Given the description of an element on the screen output the (x, y) to click on. 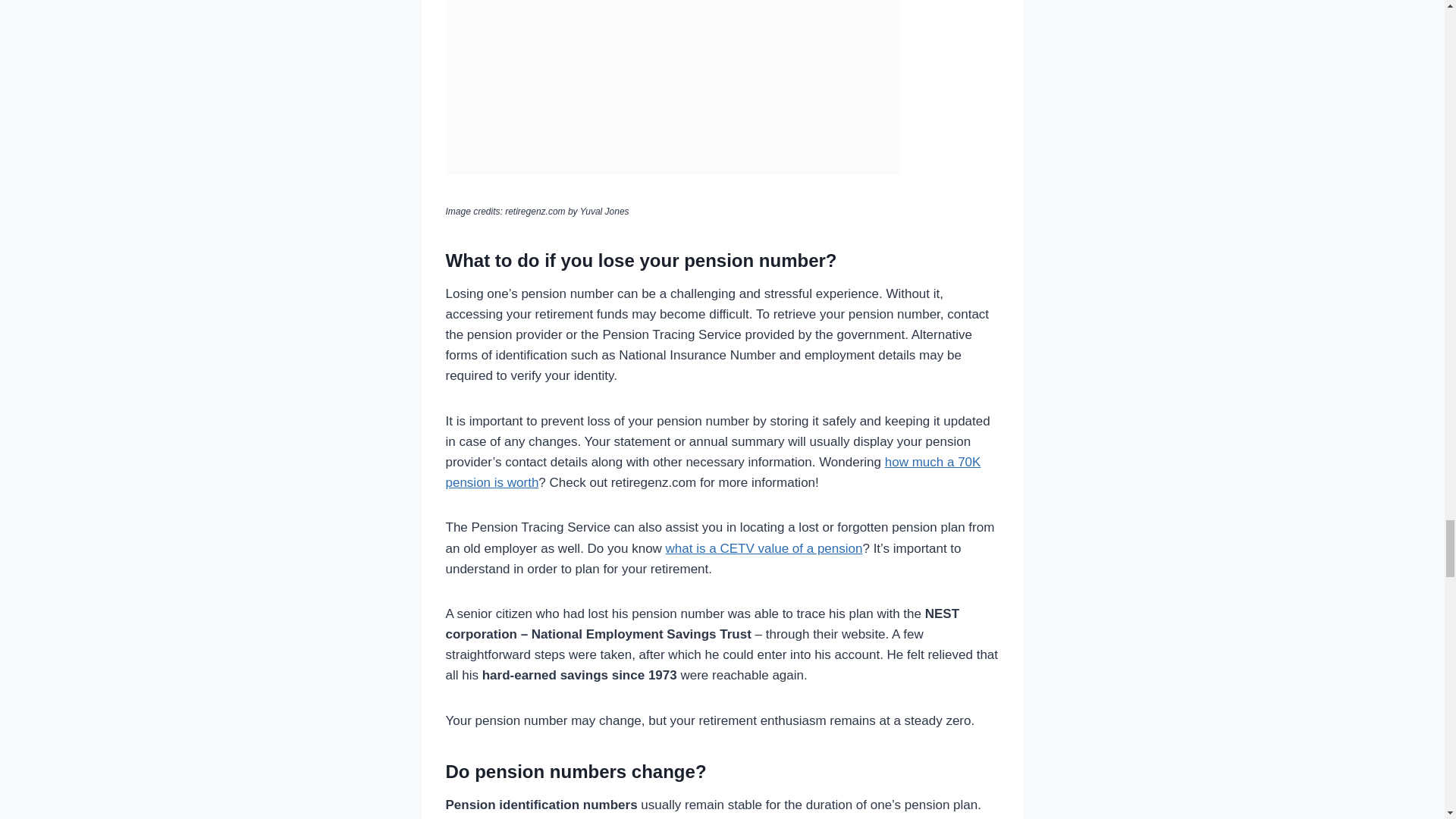
how much a 70K pension is worth (713, 472)
what is a CETV value of a pension (764, 548)
